Given the description of an element on the screen output the (x, y) to click on. 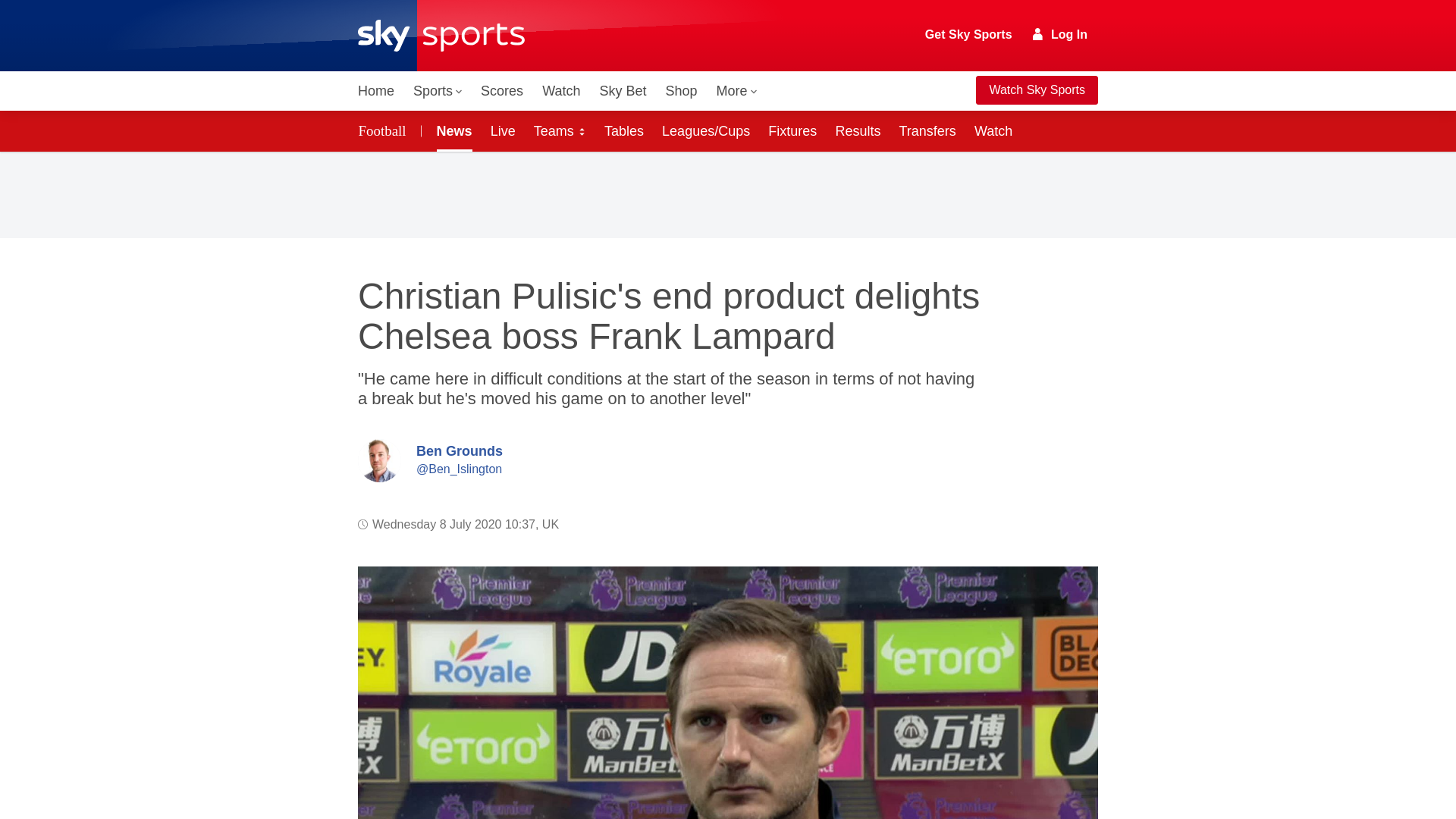
Log In (1060, 33)
News (451, 130)
More (736, 91)
Watch (561, 91)
Get Sky Sports (968, 34)
Sports (437, 91)
Watch Sky Sports (1036, 90)
Scores (502, 91)
Football (385, 130)
Sky Bet (622, 91)
